Given the description of an element on the screen output the (x, y) to click on. 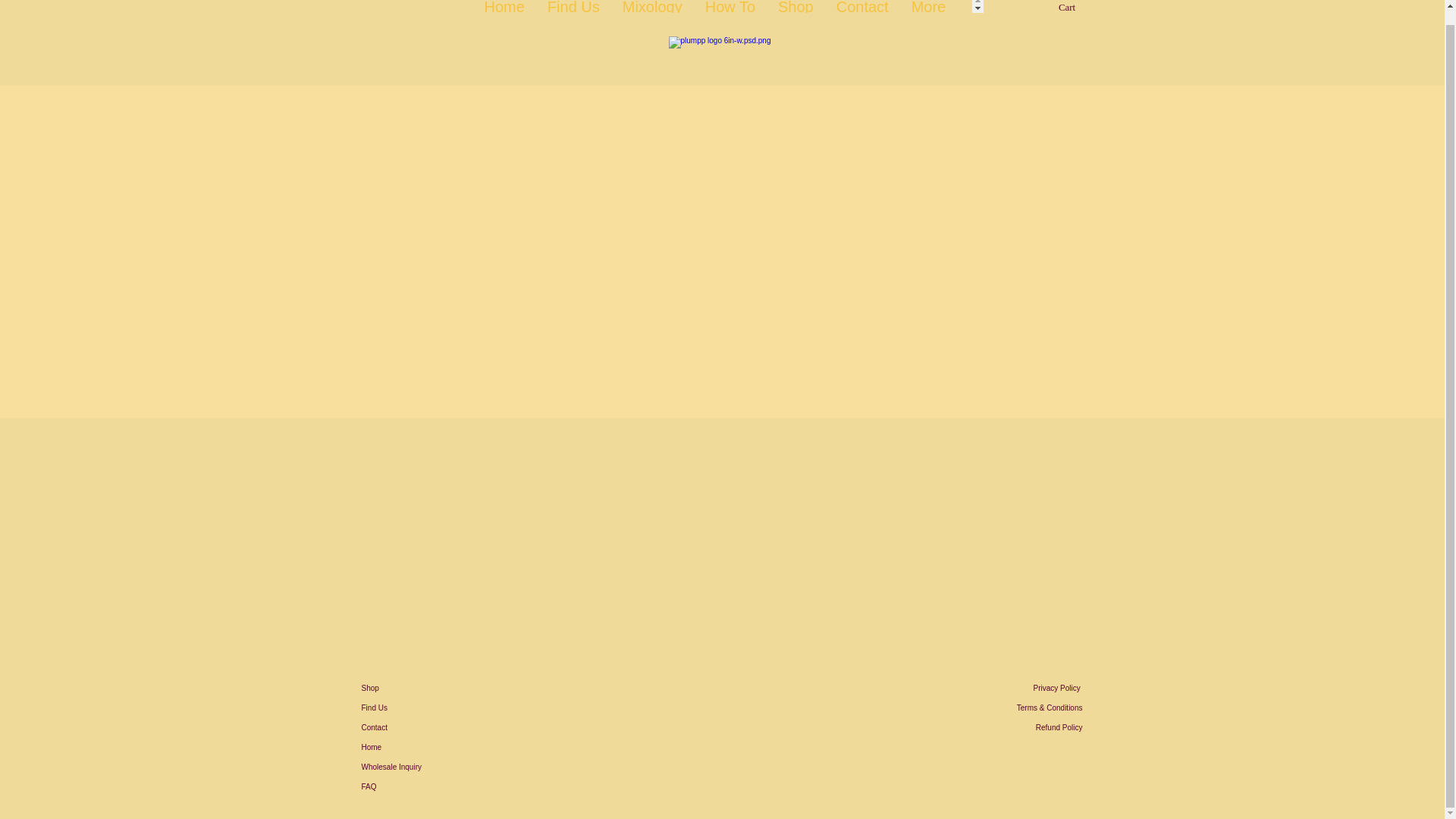
Refund Policy (1014, 727)
Mixology (652, 6)
Shop (796, 6)
Plumpp logo white.png (722, 51)
Contact (862, 6)
Find Us (414, 708)
Shop (414, 688)
Wholesale Inquiry (414, 767)
How To (730, 6)
Find Us (573, 6)
